Given the description of an element on the screen output the (x, y) to click on. 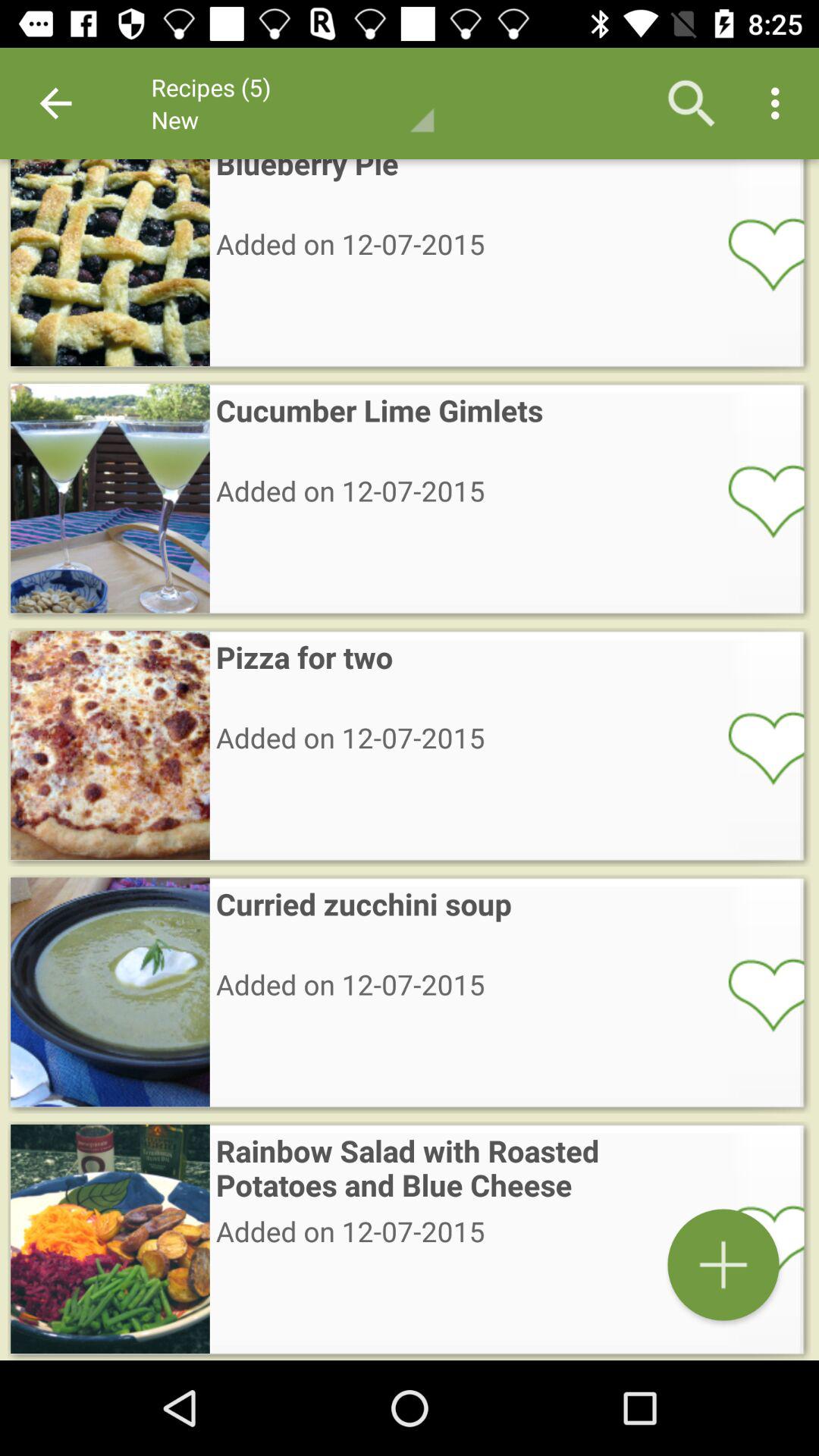
share the article (756, 500)
